Given the description of an element on the screen output the (x, y) to click on. 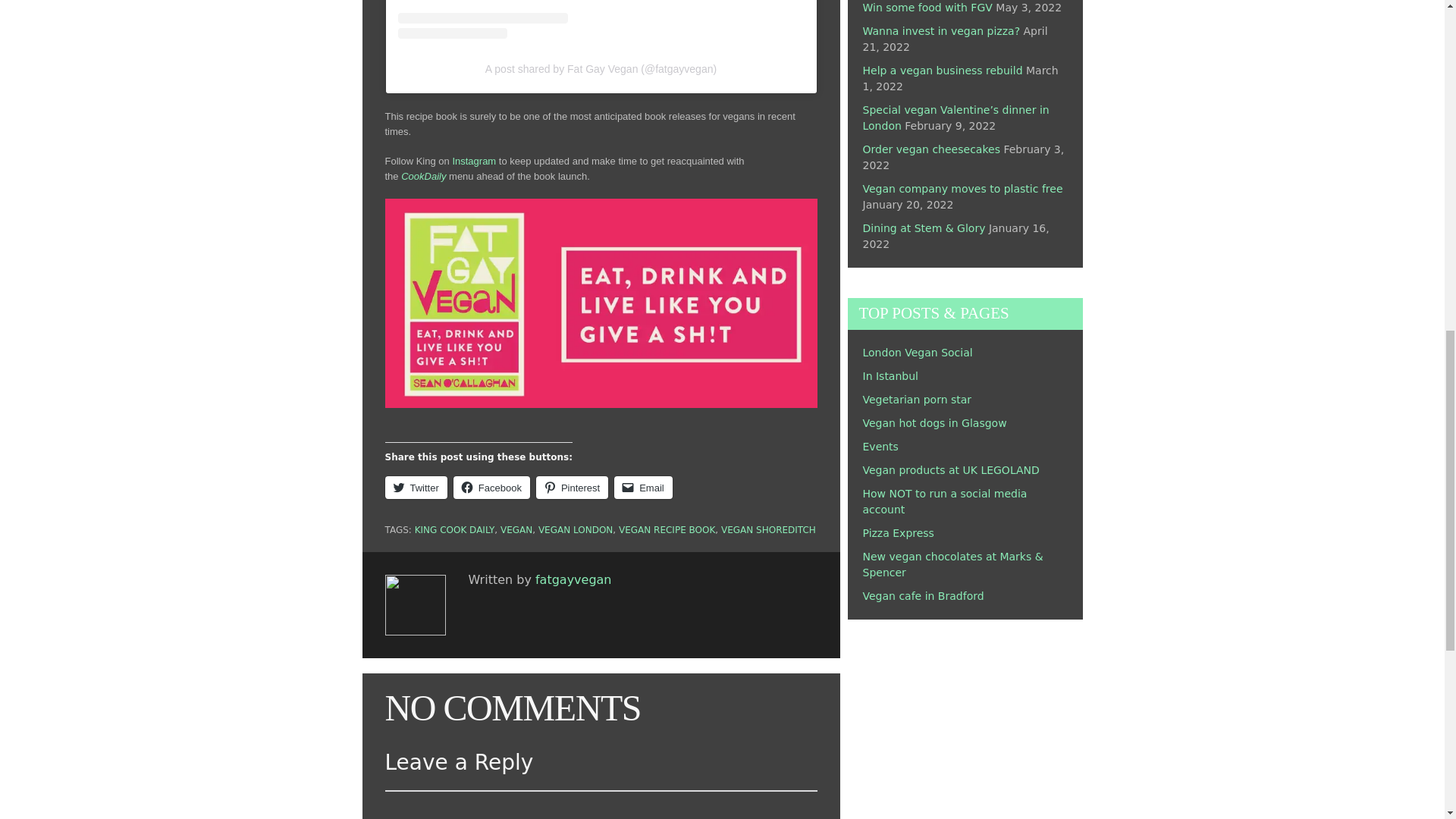
VEGAN LONDON (575, 529)
Comment Form (600, 804)
Click to share on Facebook (490, 486)
Facebook (490, 486)
Click to share on Pinterest (571, 486)
Twitter (415, 486)
VEGAN (516, 529)
VEGAN RECIPE BOOK (666, 529)
Click to share on Twitter (415, 486)
CookDaily (423, 175)
